Given the description of an element on the screen output the (x, y) to click on. 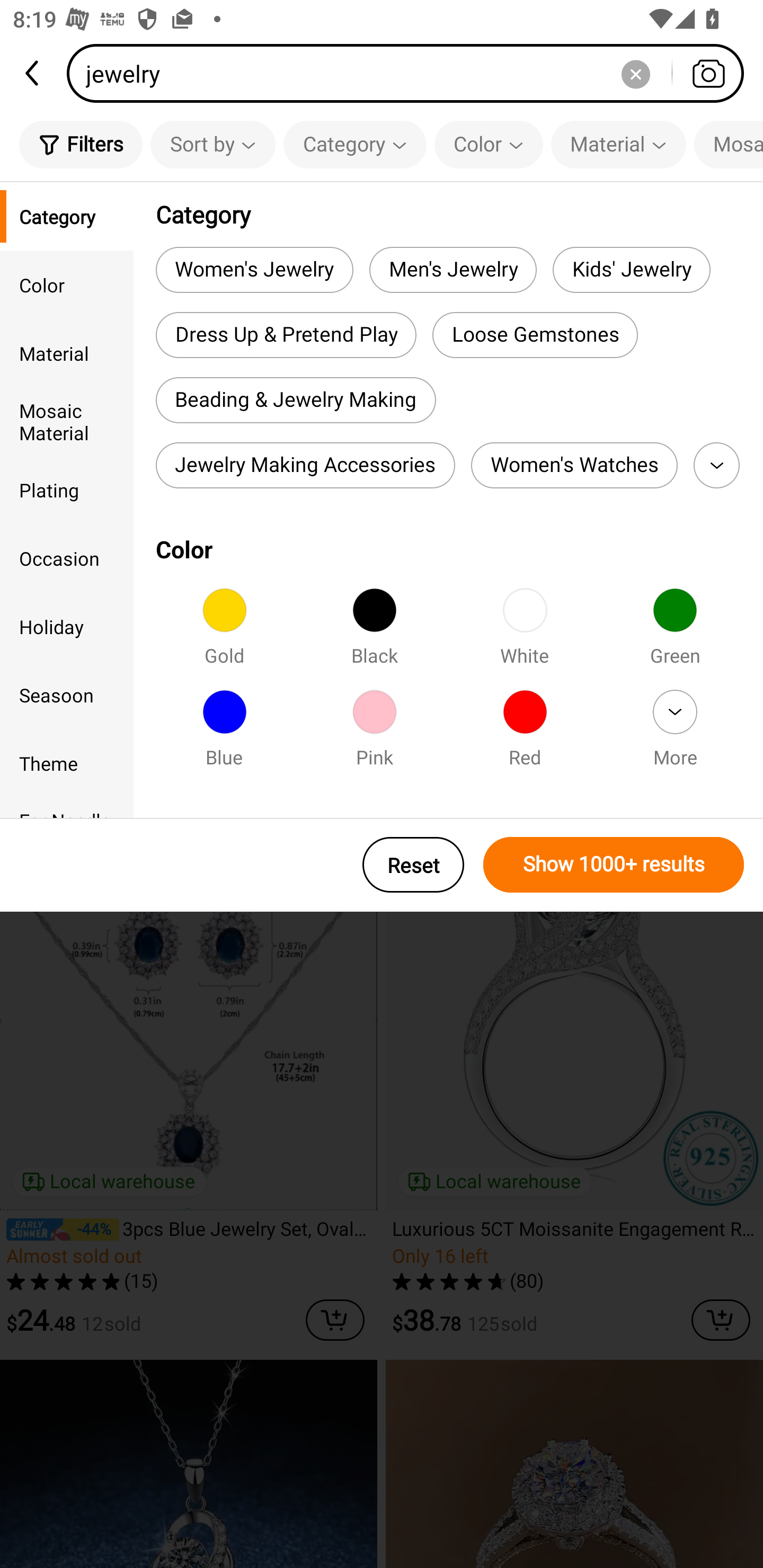
back (33, 72)
jewelry (411, 73)
Delete search history (635, 73)
Search by photo (708, 73)
Filters (80, 143)
Sort by (212, 143)
Category (354, 143)
Color (488, 143)
Material (617, 143)
Mosaic Material (728, 143)
Category (66, 215)
Women's Jewelry (254, 269)
Men's Jewelry (452, 269)
Kids' Jewelry (631, 269)
Color (66, 284)
Dress Up & Pretend Play (285, 334)
Loose Gemstones (534, 334)
Material (66, 352)
Beading & Jewelry Making (295, 400)
Mosaic Material (66, 421)
